Given the description of an element on the screen output the (x, y) to click on. 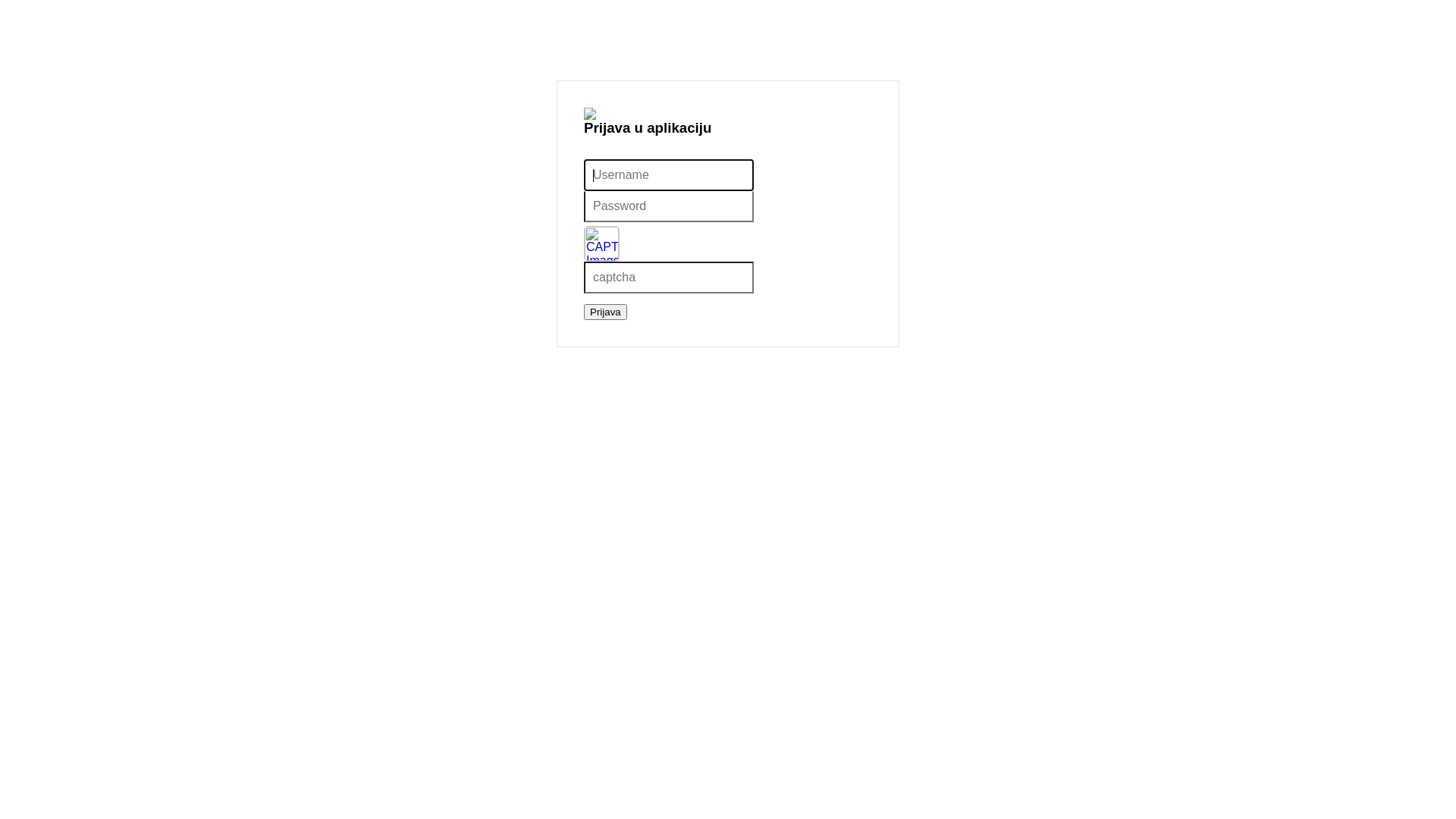
Prijava Element type: text (605, 312)
